Given the description of an element on the screen output the (x, y) to click on. 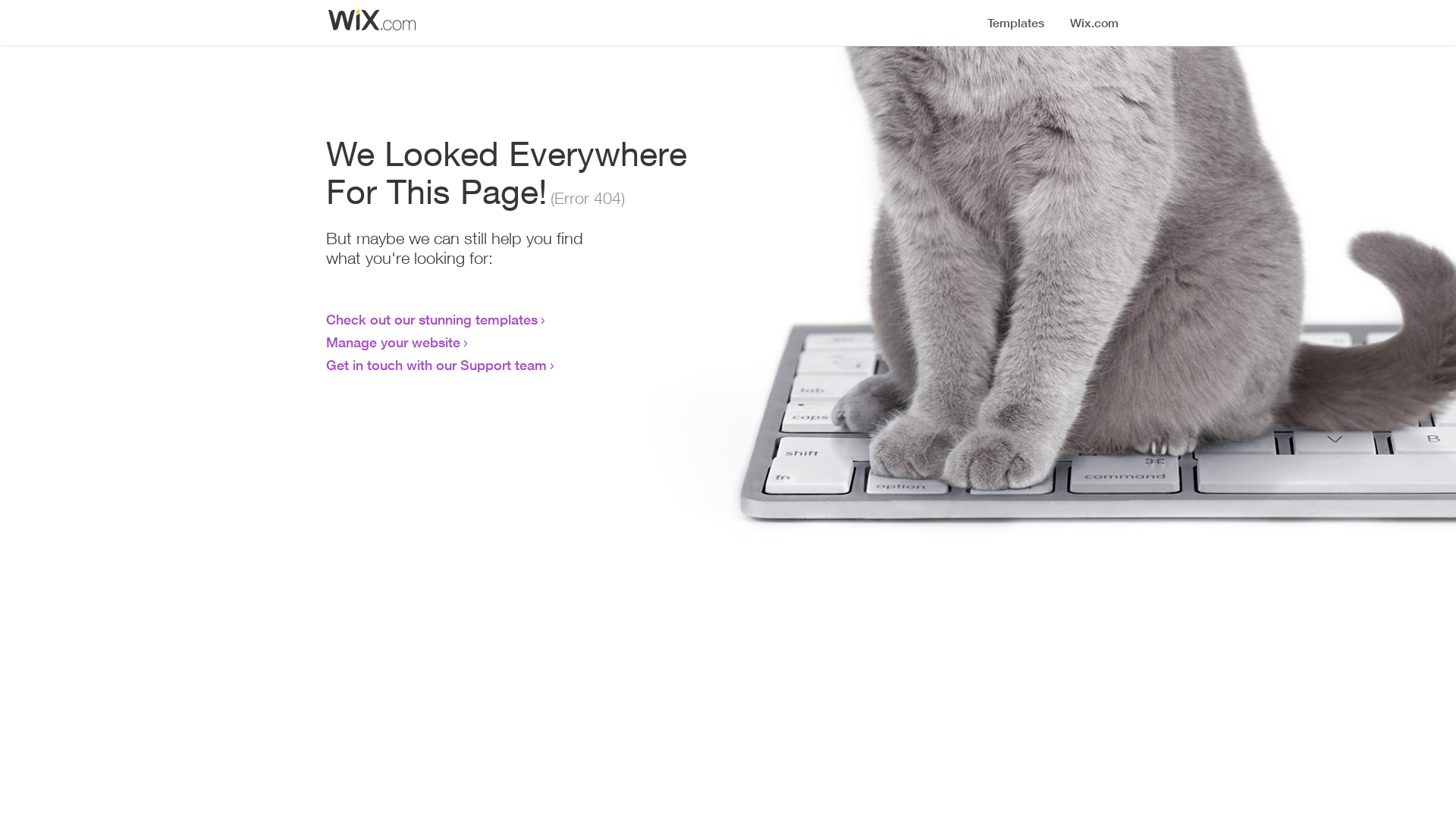
Check out our stunning templates Element type: text (431, 318)
Get in touch with our Support team Element type: text (436, 364)
Manage your website Element type: text (393, 341)
